Given the description of an element on the screen output the (x, y) to click on. 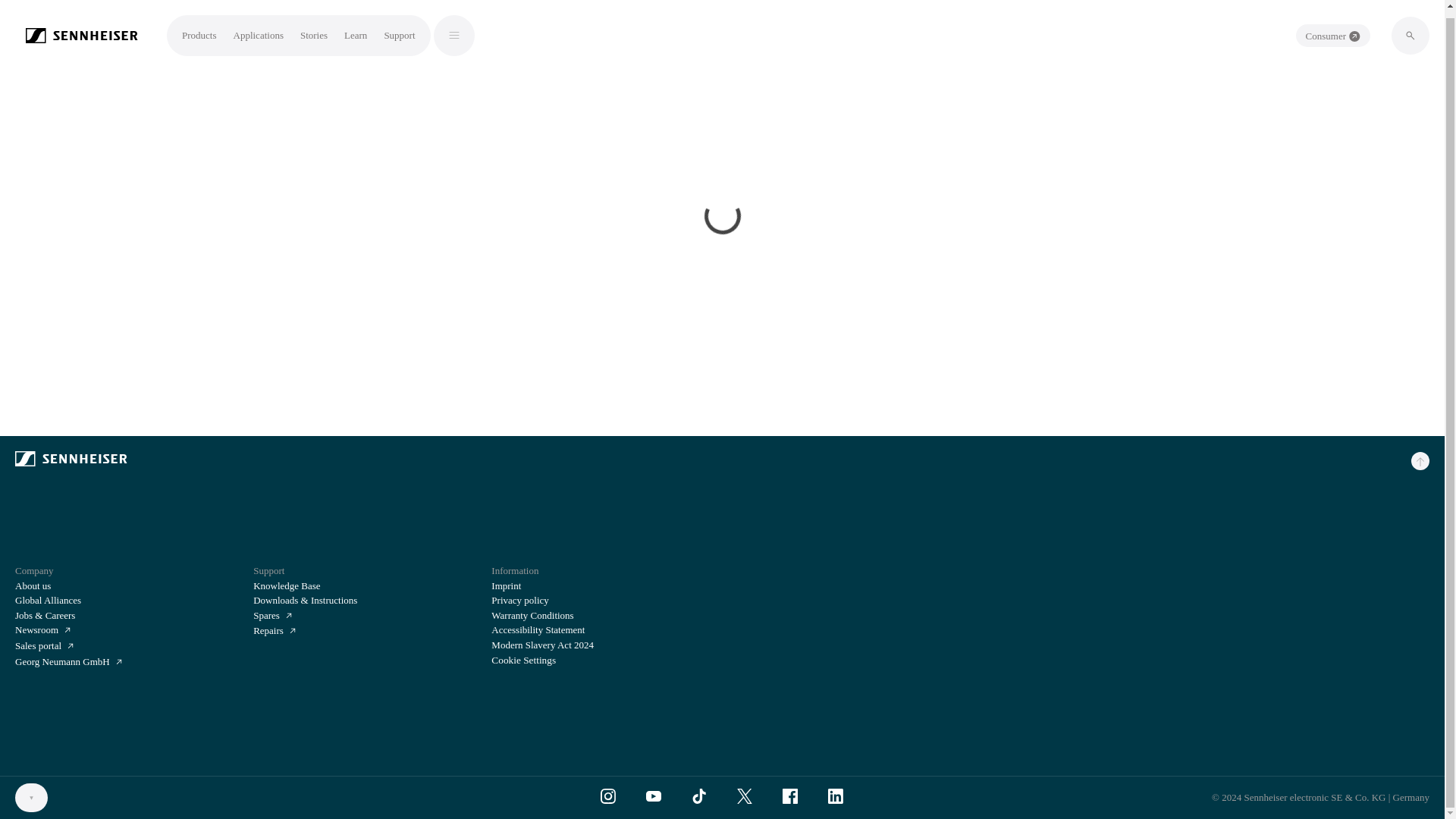
Products (199, 28)
Newsroom (41, 630)
Sales portal (44, 645)
Knowledge Base (286, 585)
Stories (313, 28)
Learn (354, 28)
Georg Neumann GmbH (68, 662)
About us (32, 585)
Imprint (506, 585)
Cookie Settings (524, 660)
Accessibility Statement (538, 630)
Modern Slavery Act 2024 (543, 645)
Global Alliances (47, 600)
Consumer (1332, 28)
Spares (272, 615)
